Given the description of an element on the screen output the (x, y) to click on. 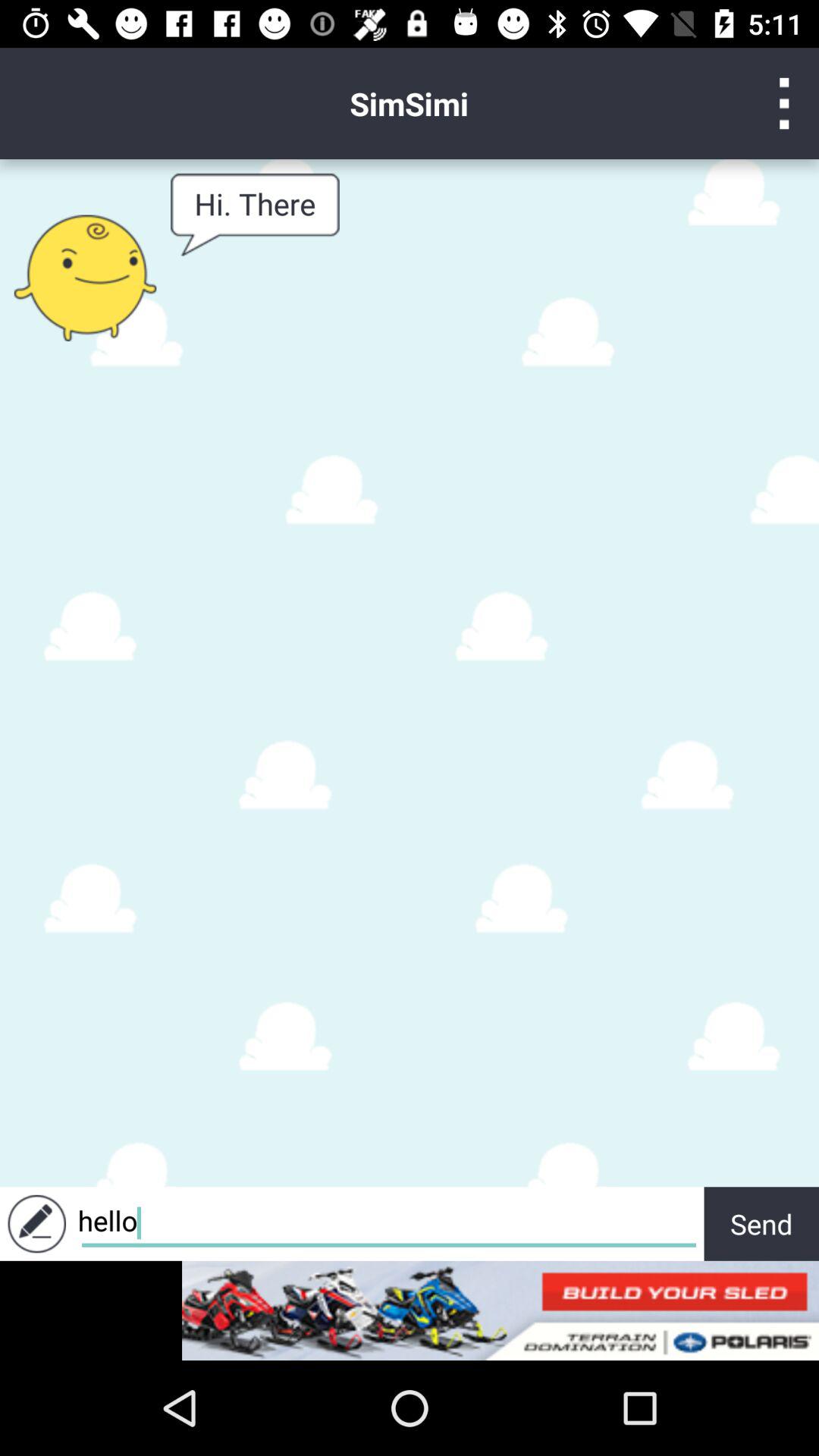
go to edit (36, 1223)
